Given the description of an element on the screen output the (x, y) to click on. 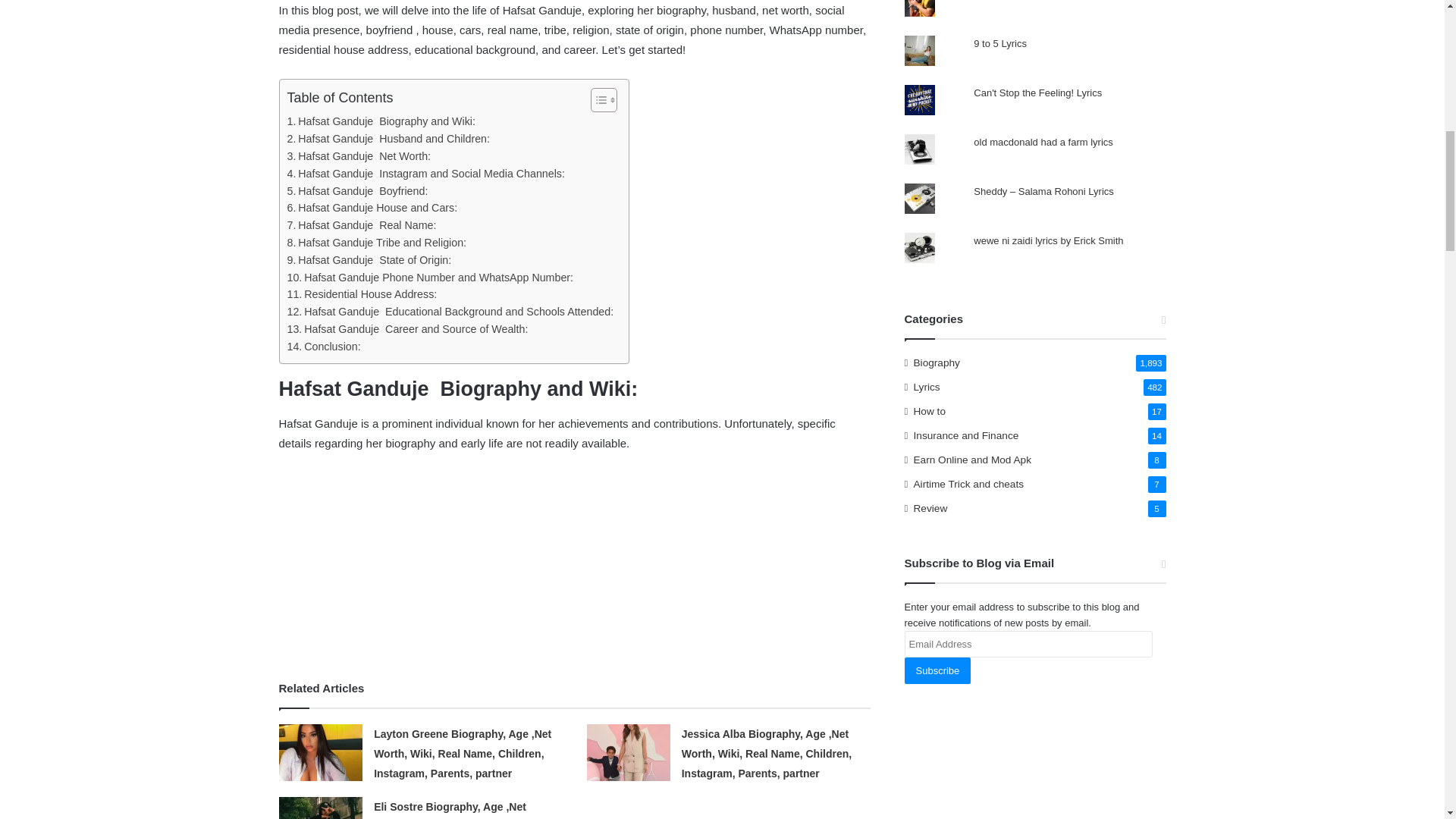
Hafsat Ganduje  Biography and Wiki: (380, 121)
Hafsat Ganduje  Instagram and Social Media Channels: (425, 173)
Hafsat Ganduje  Real Name: (360, 225)
Hafsat Ganduje House and Cars: (371, 208)
Hafsat Ganduje Phone Number and WhatsApp Number: (429, 277)
Hafsat Ganduje Tribe and Religion: (375, 242)
Hafsat Ganduje  Boyfriend: (357, 190)
Hafsat Ganduje  Educational Background and Schools Attended: (449, 312)
